Given the description of an element on the screen output the (x, y) to click on. 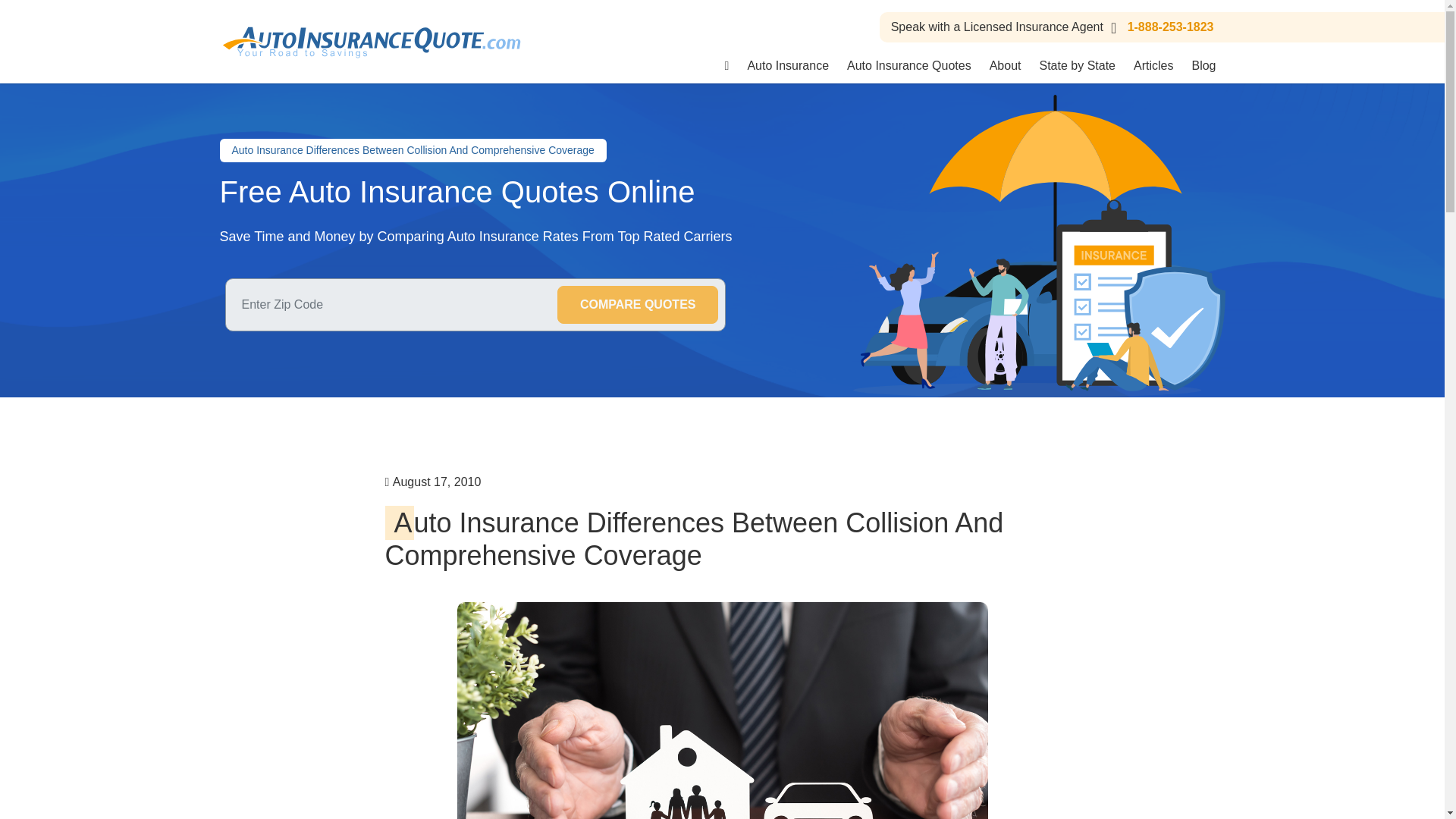
About (1004, 65)
1-888-253-1823 (1158, 26)
Blog (1203, 65)
State by State (1076, 65)
Articles (1153, 65)
COMPARE QUOTES (638, 304)
Auto Insurance (788, 65)
Auto Insurance Quotes (908, 65)
